Given the description of an element on the screen output the (x, y) to click on. 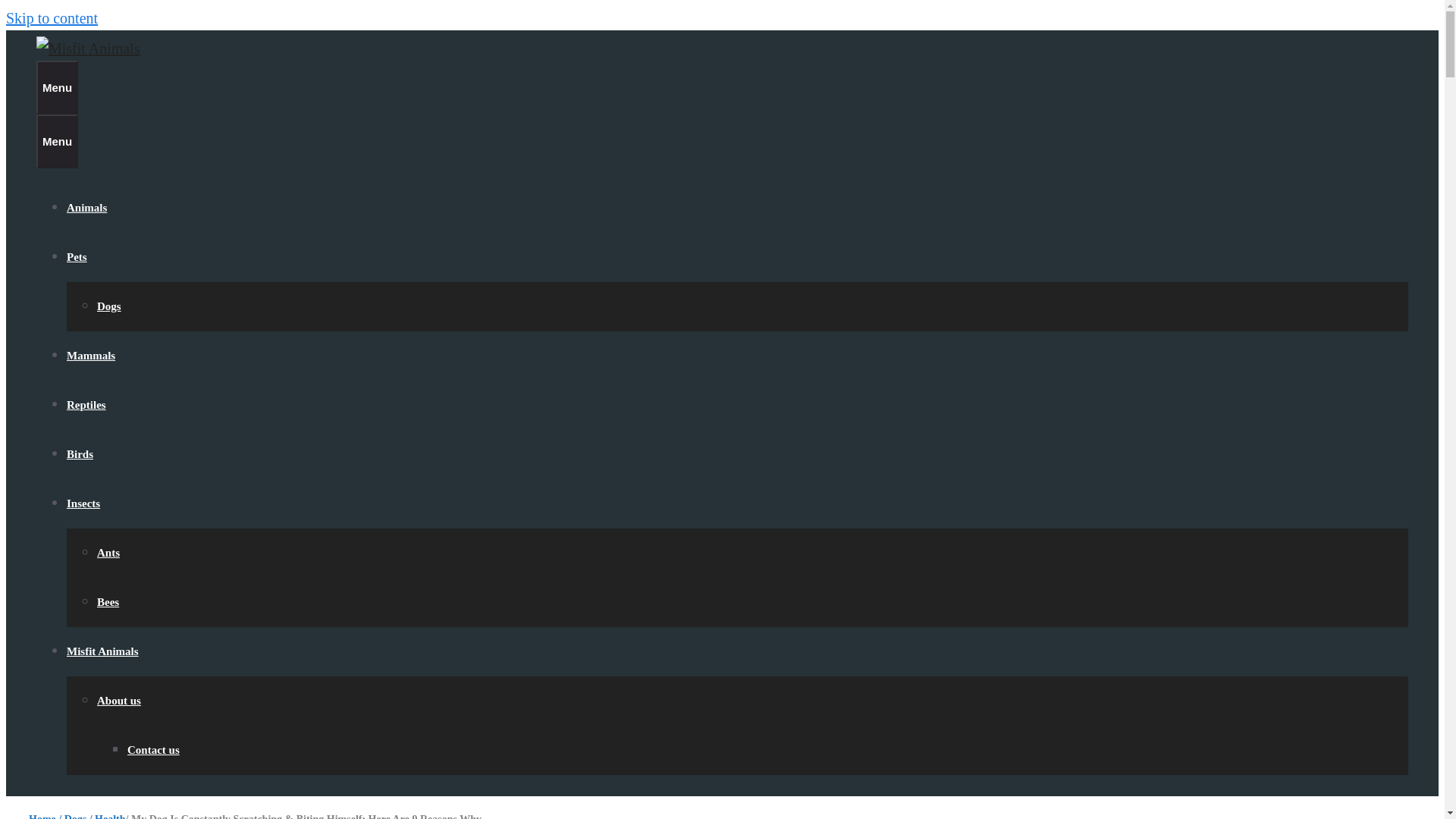
Reptiles (86, 404)
Mammals (90, 355)
Insects (83, 503)
Ants (108, 552)
Skip to content (51, 17)
Bees (108, 602)
Misfit Animals (102, 651)
Home (42, 816)
Health (109, 816)
About us (119, 700)
